Given the description of an element on the screen output the (x, y) to click on. 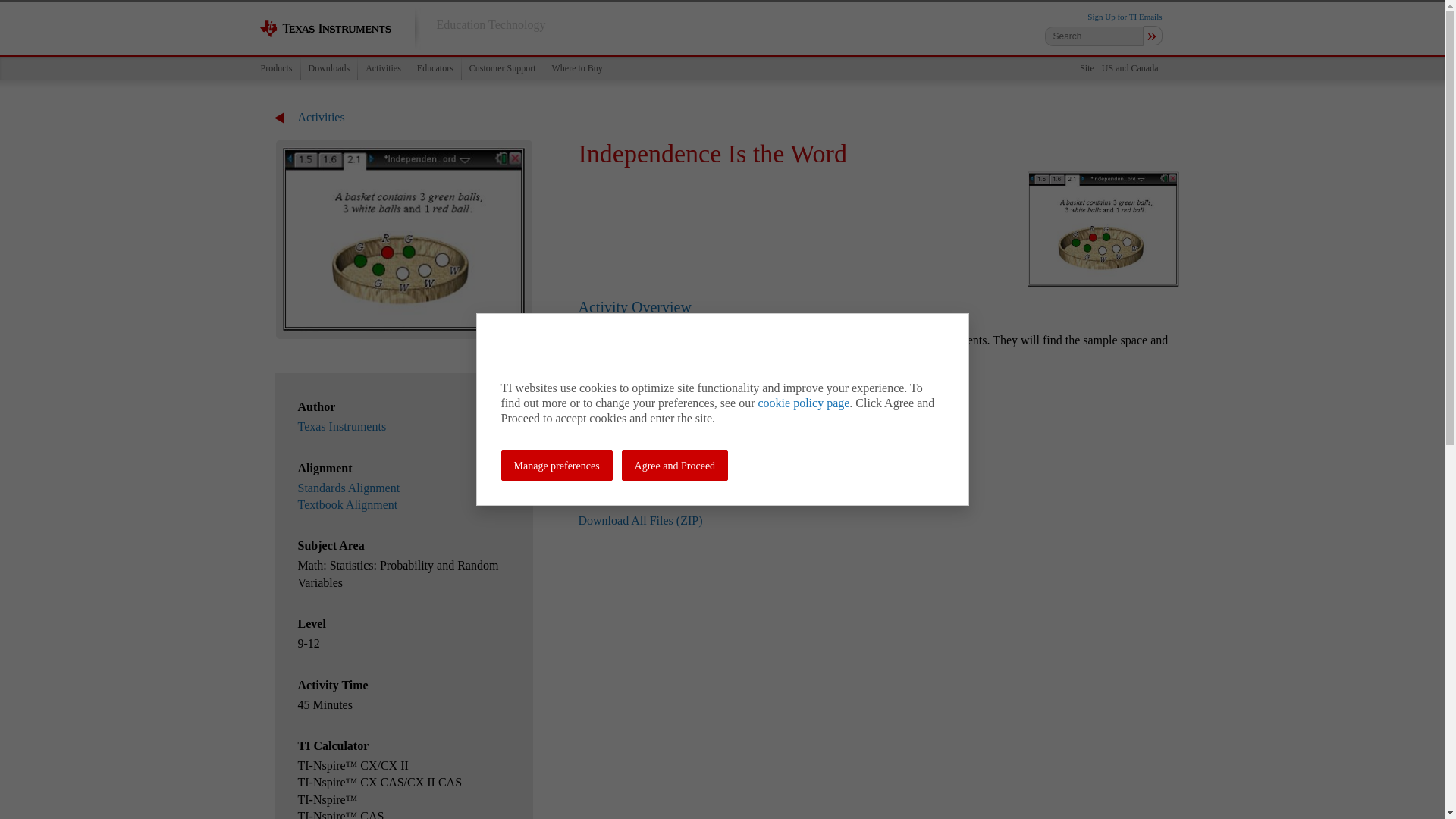
Activities (382, 68)
Products (275, 68)
Downloads (328, 68)
Sign Up for TI Emails (1124, 16)
Educators (435, 68)
